Given the description of an element on the screen output the (x, y) to click on. 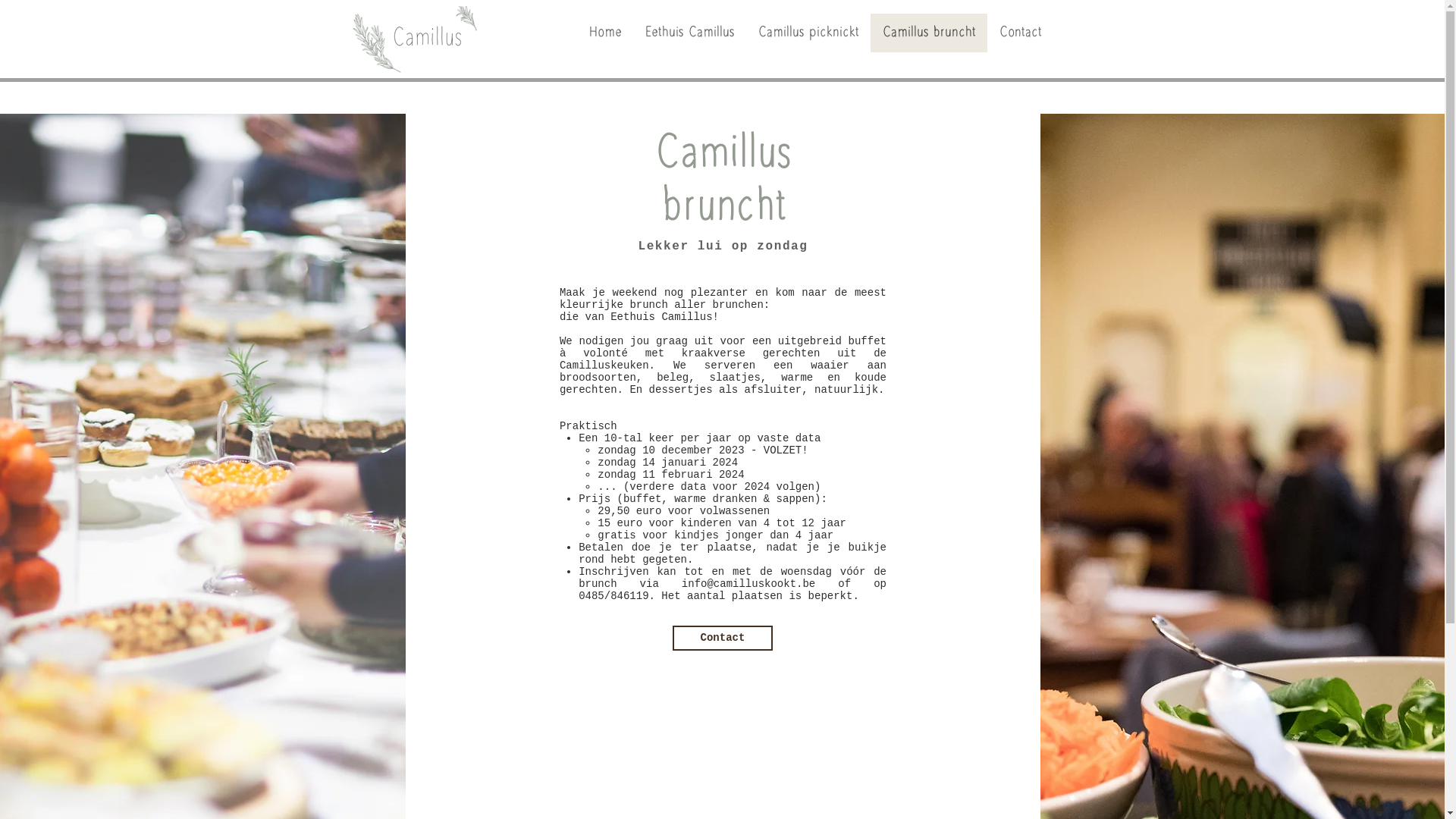
Home Element type: text (604, 32)
info@camilluskookt.be Element type: text (748, 583)
Eethuis Camillus Element type: text (688, 32)
Contact Element type: text (722, 637)
Camillus picknickt Element type: text (808, 32)
Contact Element type: text (1020, 32)
Camillus bruncht Element type: text (928, 32)
